Given the description of an element on the screen output the (x, y) to click on. 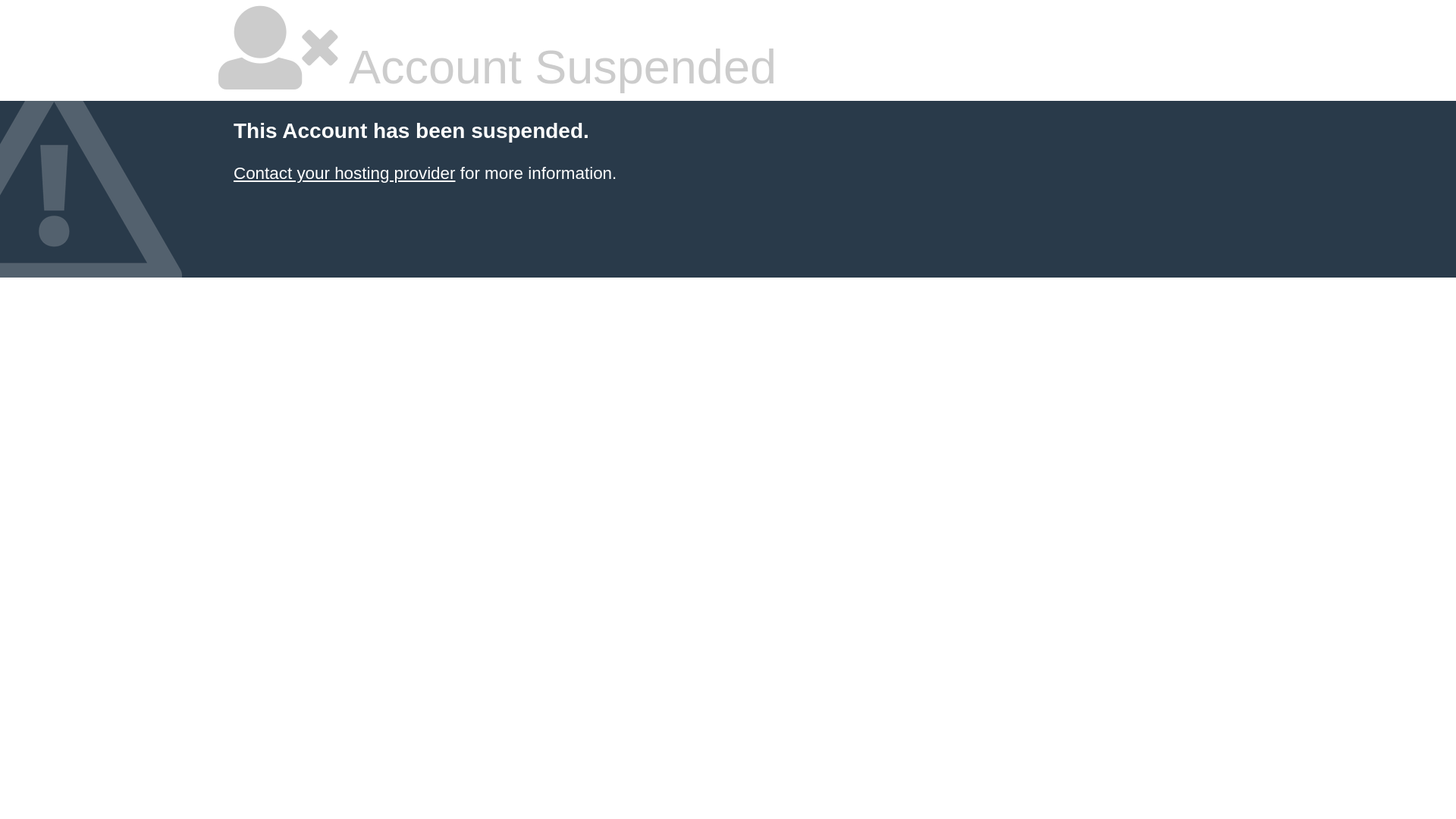
Contact your hosting provider Element type: text (344, 172)
